Given the description of an element on the screen output the (x, y) to click on. 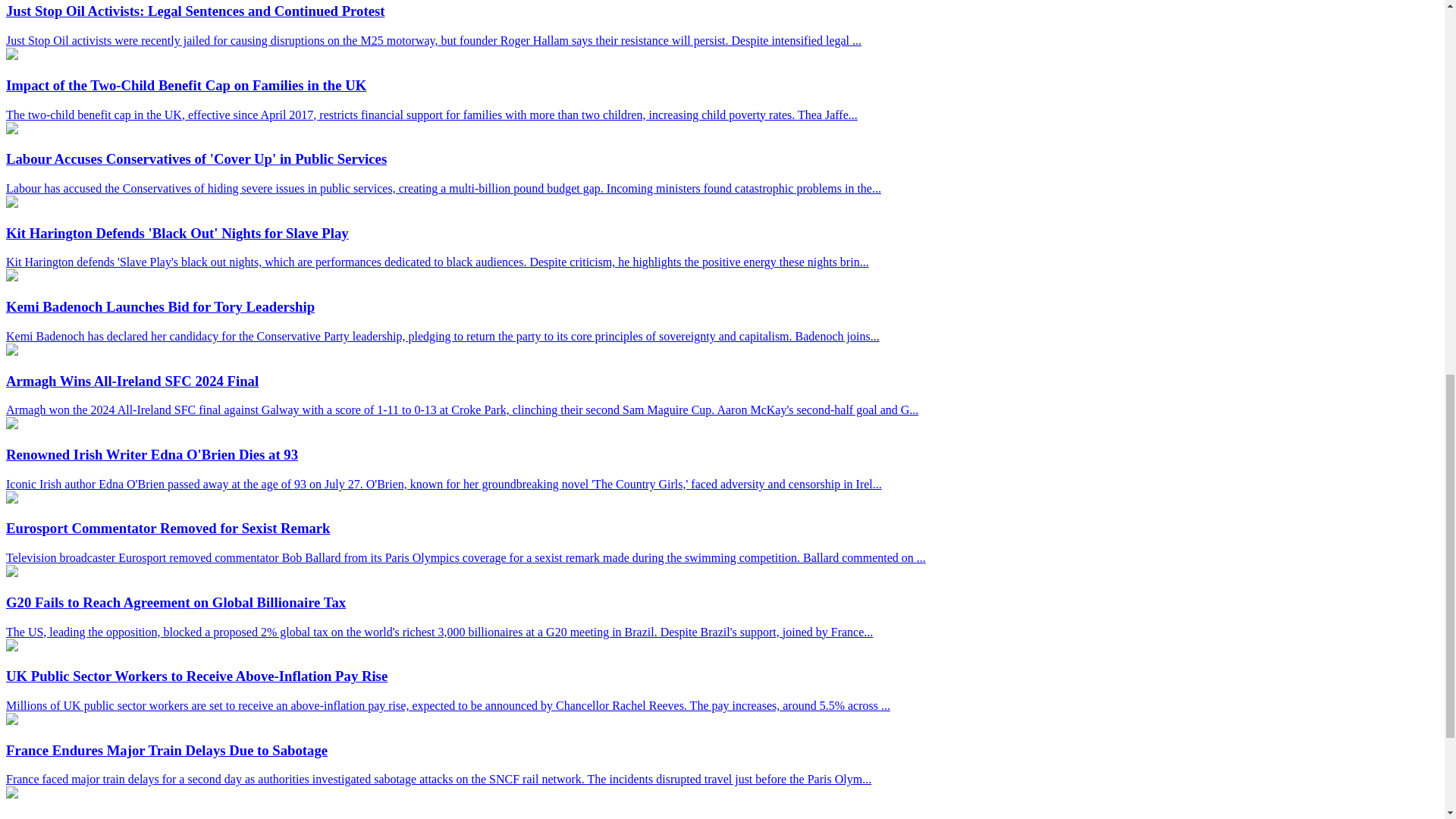
Impact of the Two-Child Benefit Cap on Families in the UK (11, 55)
UK Public Sector Workers to Receive Above-Inflation Pay Rise (11, 646)
Kit Harington Defends 'Black Out' Nights for Slave Play (11, 203)
Eurosport Commentator Removed for Sexist Remark (11, 499)
Kemi Badenoch Launches Bid for Tory Leadership (11, 277)
Renowned Irish Writer Edna O'Brien Dies at 93 (11, 424)
Armagh Wins All-Ireland SFC 2024 Final (11, 350)
G20 Fails to Reach Agreement on Global Billionaire Tax (11, 572)
